Given the description of an element on the screen output the (x, y) to click on. 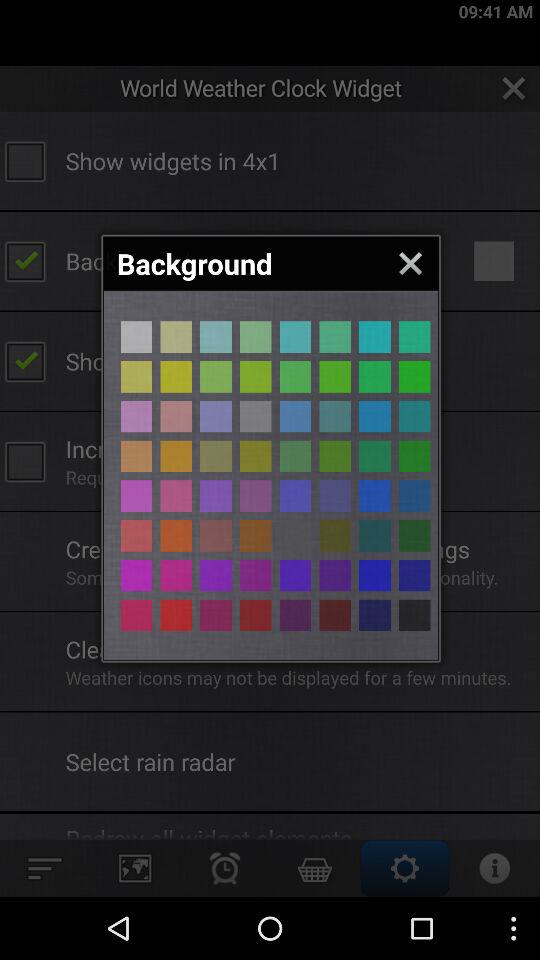
color select (136, 575)
